Given the description of an element on the screen output the (x, y) to click on. 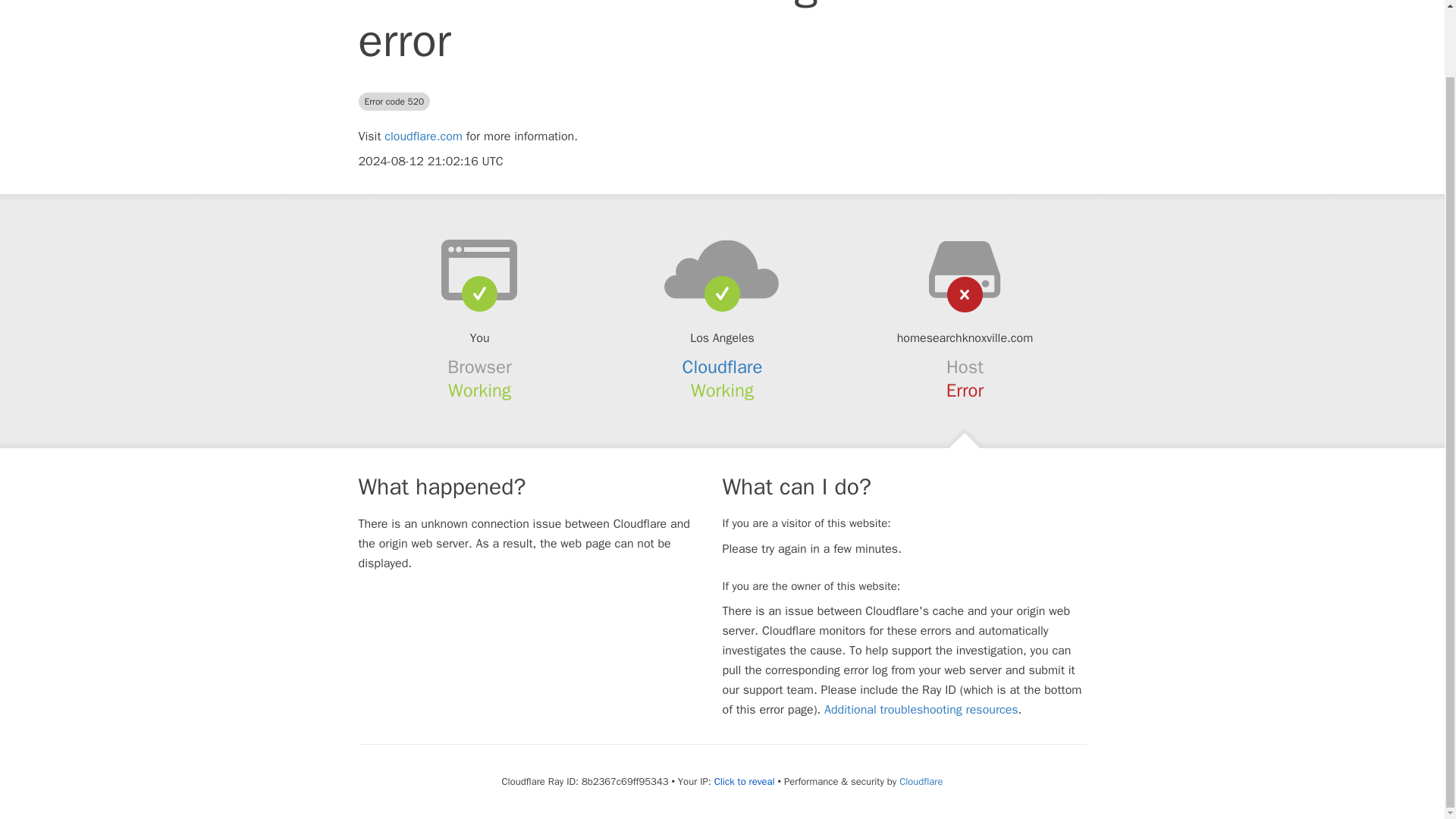
cloudflare.com (423, 136)
Cloudflare (722, 366)
Cloudflare (920, 780)
Additional troubleshooting resources (920, 709)
Click to reveal (744, 781)
